Given the description of an element on the screen output the (x, y) to click on. 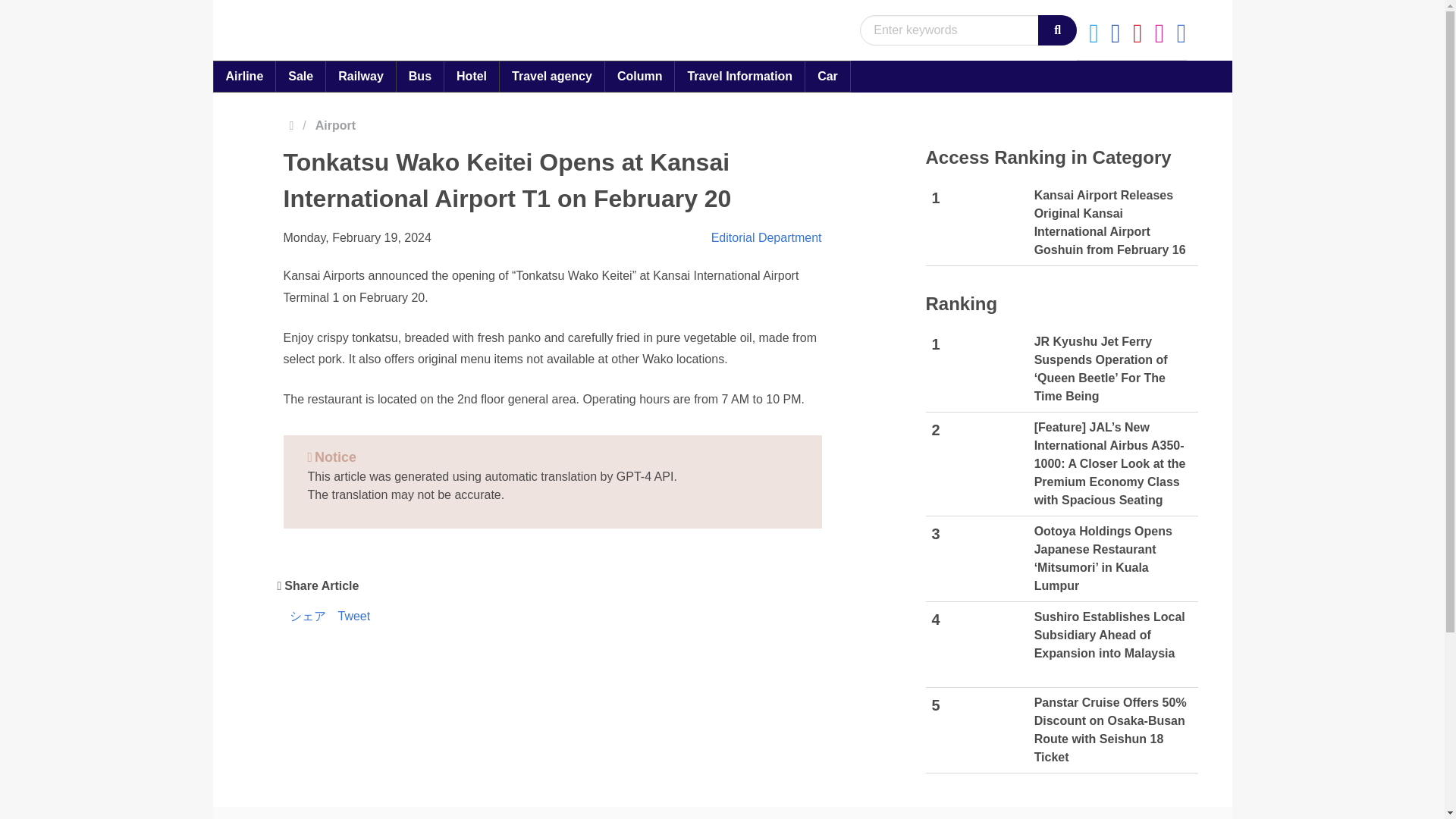
Travel Information (739, 76)
Editorial Department (766, 237)
Bus (420, 76)
Travel agency (552, 76)
Airport (340, 126)
Airline (244, 76)
Posts by Editorial Department (766, 237)
Column (639, 76)
